Given the description of an element on the screen output the (x, y) to click on. 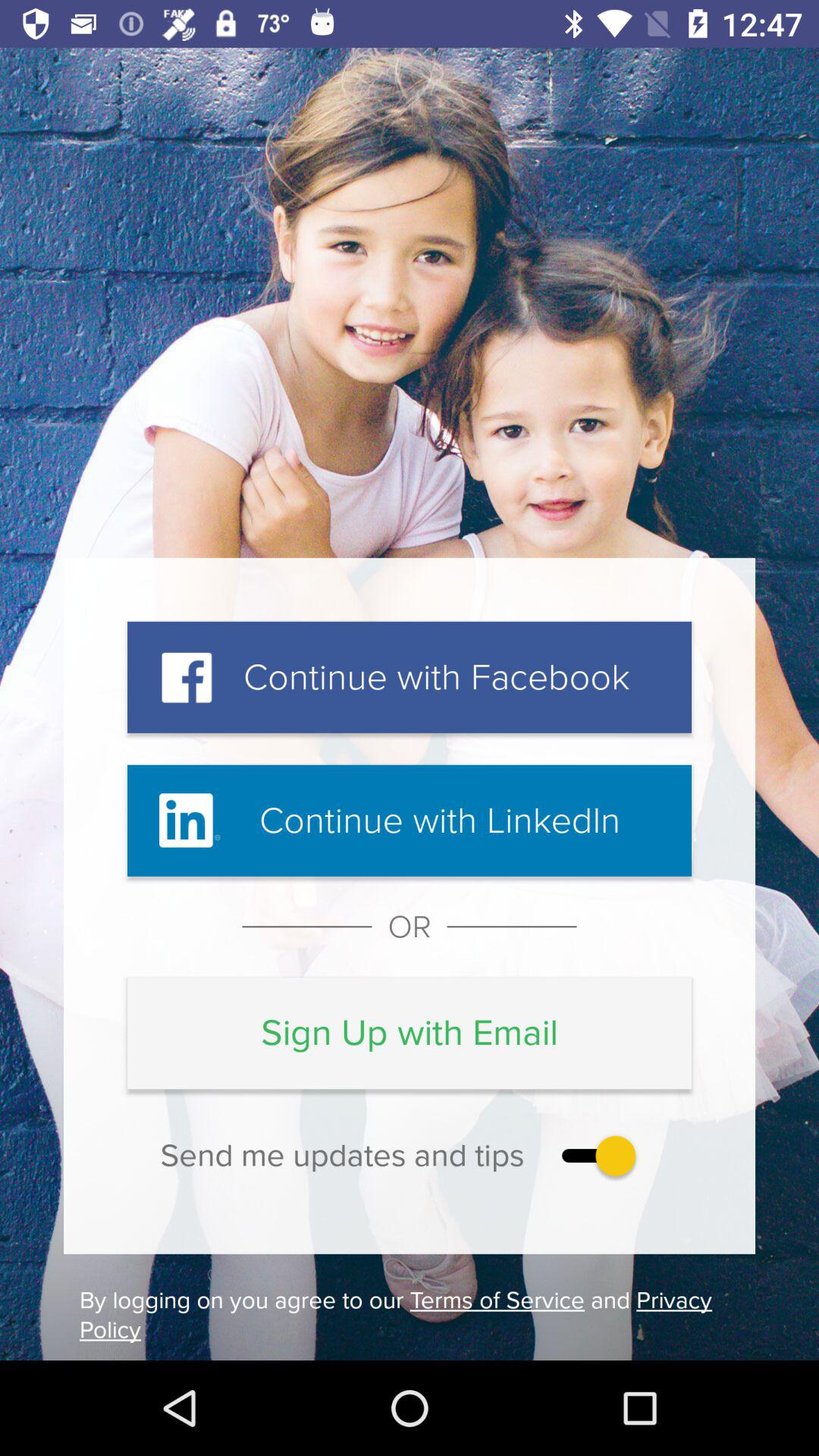
jump until the by logging on (409, 1314)
